Given the description of an element on the screen output the (x, y) to click on. 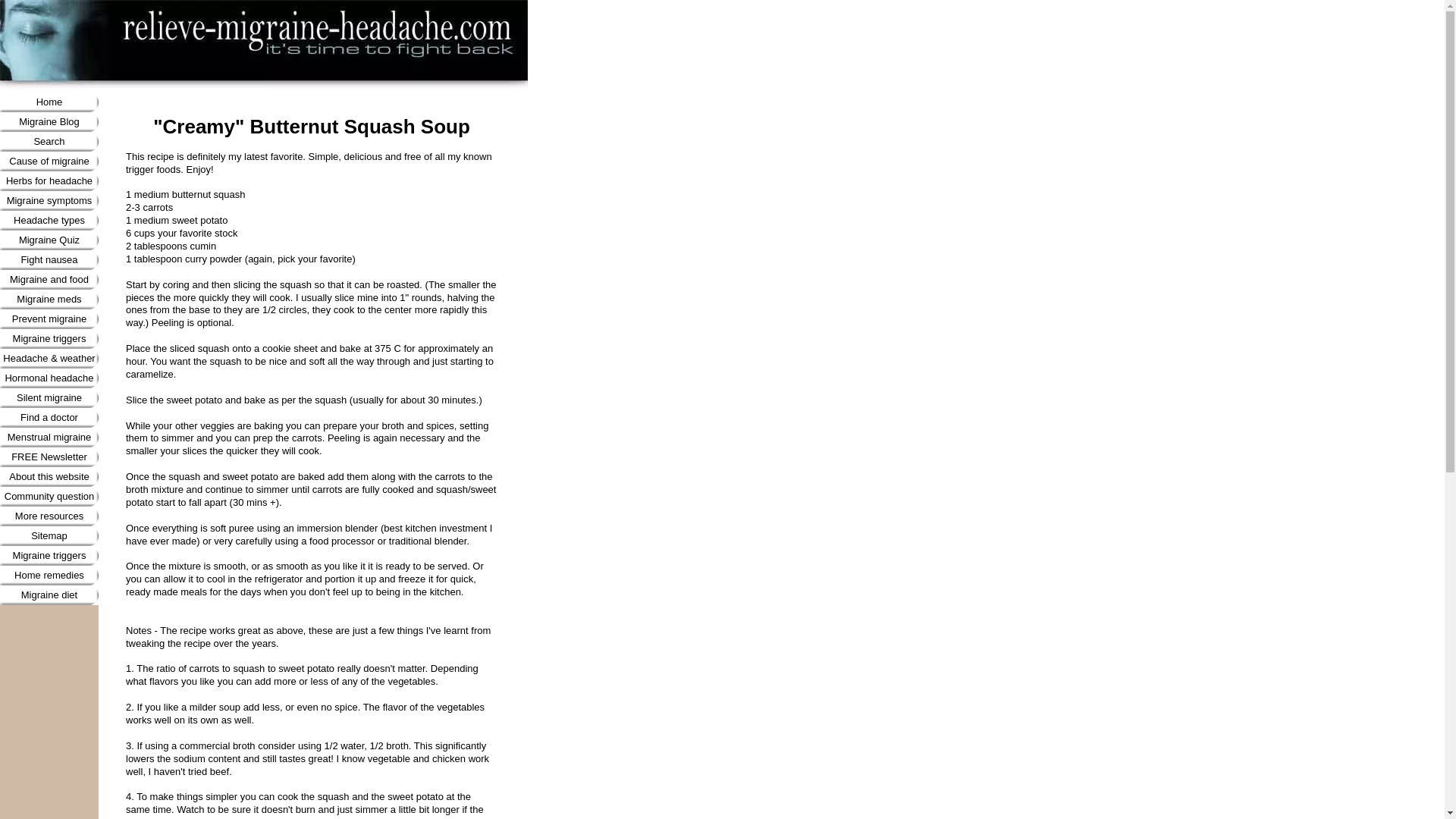
Migraine Quiz (49, 240)
Home remedies (49, 575)
Sitemap (49, 536)
Migraine and food (49, 279)
Home (49, 102)
Migraine diet (49, 595)
Search (49, 141)
Migraine triggers (49, 338)
Herbs for headache (49, 180)
FREE Newsletter (49, 456)
